Given the description of an element on the screen output the (x, y) to click on. 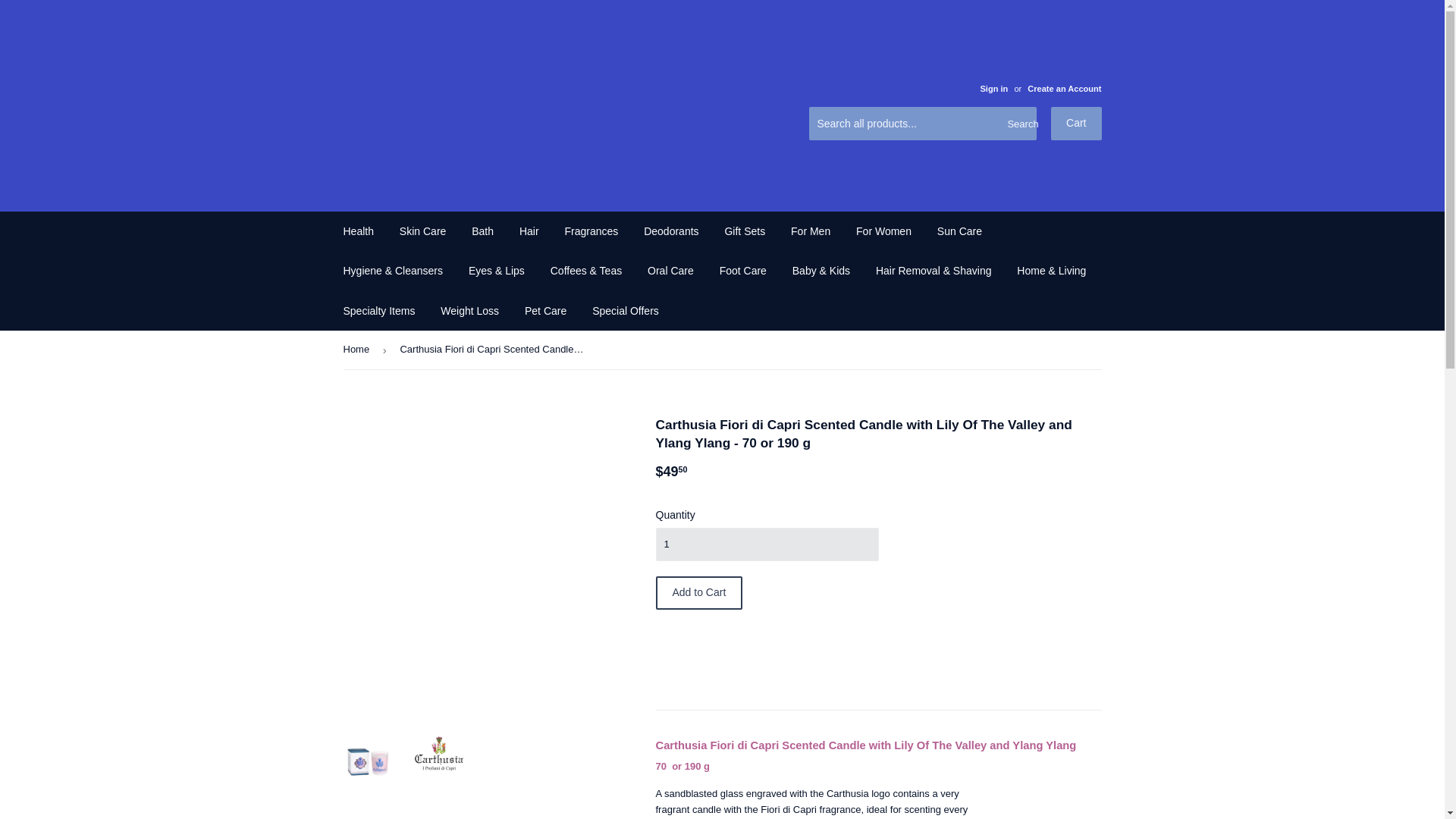
Search (1019, 124)
Bath (482, 230)
Sign in (993, 88)
Create an Account (1063, 88)
1 (766, 544)
Cart (1075, 123)
Fragrances (590, 230)
Deodorants (670, 230)
Skin Care (422, 230)
Hair (529, 230)
